Given the description of an element on the screen output the (x, y) to click on. 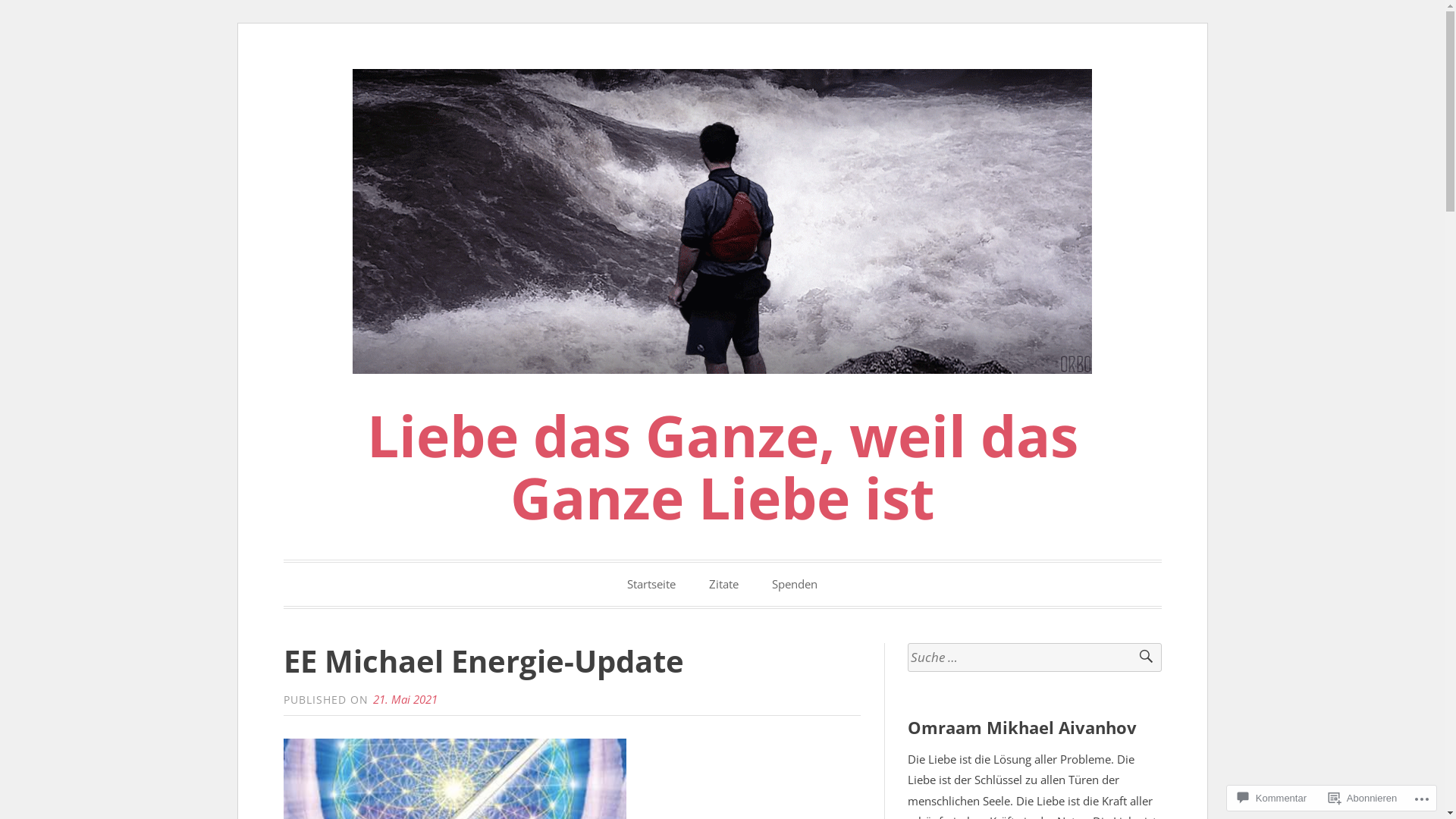
Abonnieren Element type: text (1362, 797)
Kommentar Element type: text (1271, 797)
Startseite Element type: text (650, 584)
Spenden Element type: text (794, 584)
Liebe das Ganze, weil das Ganze Liebe ist Element type: text (722, 466)
Suche Element type: text (1138, 657)
Zitate Element type: text (723, 584)
21. Mai 2021 Element type: text (405, 698)
